Given the description of an element on the screen output the (x, y) to click on. 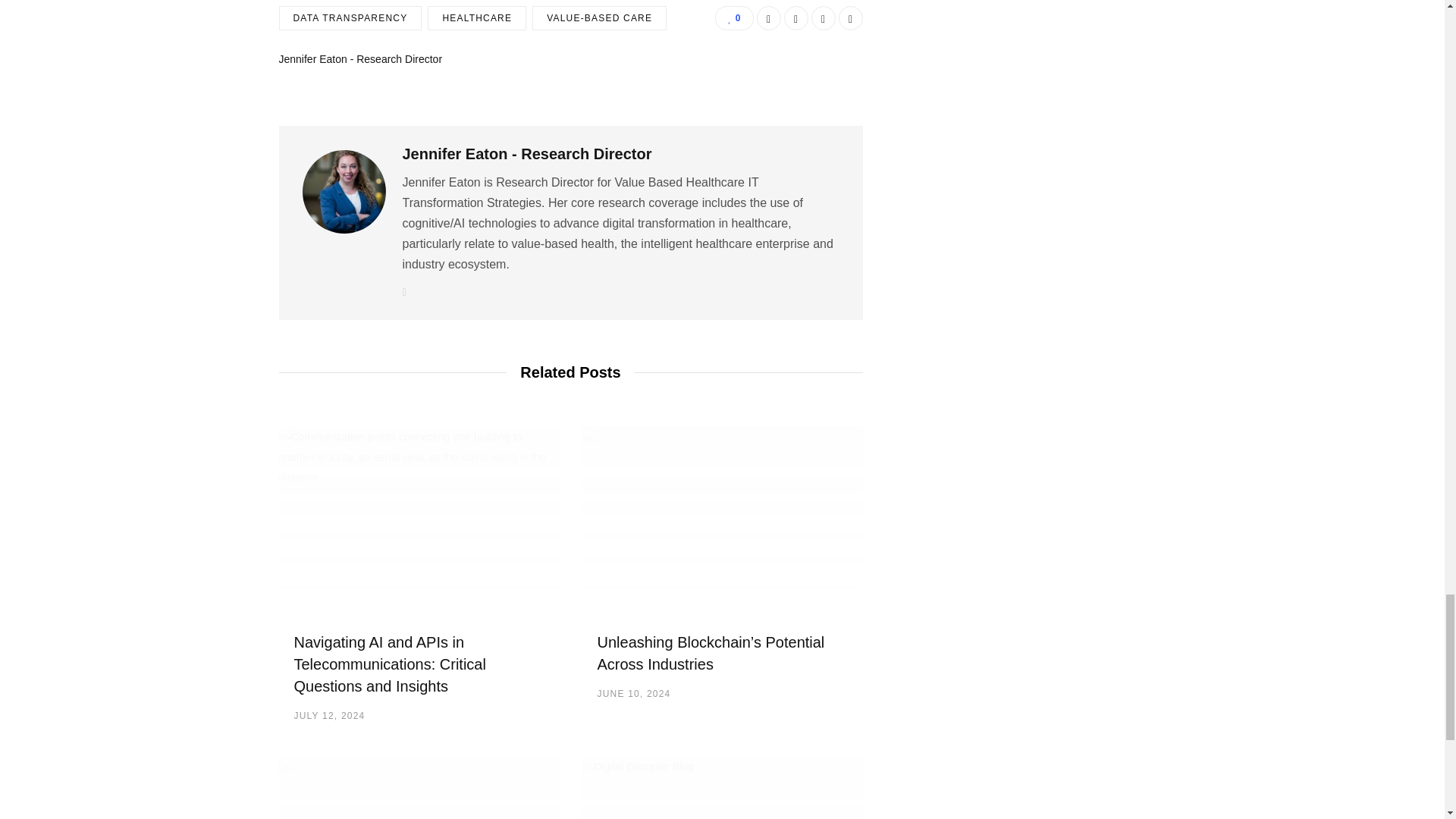
Jennifer Eaton - Research Director (360, 59)
DATA TRANSPARENCY (350, 17)
Share on Twitter (796, 17)
VALUE-BASED CARE (599, 17)
Jennifer Eaton - Research Director (525, 153)
0 (733, 17)
Share on Facebook (768, 17)
HEALTHCARE (476, 17)
